Given the description of an element on the screen output the (x, y) to click on. 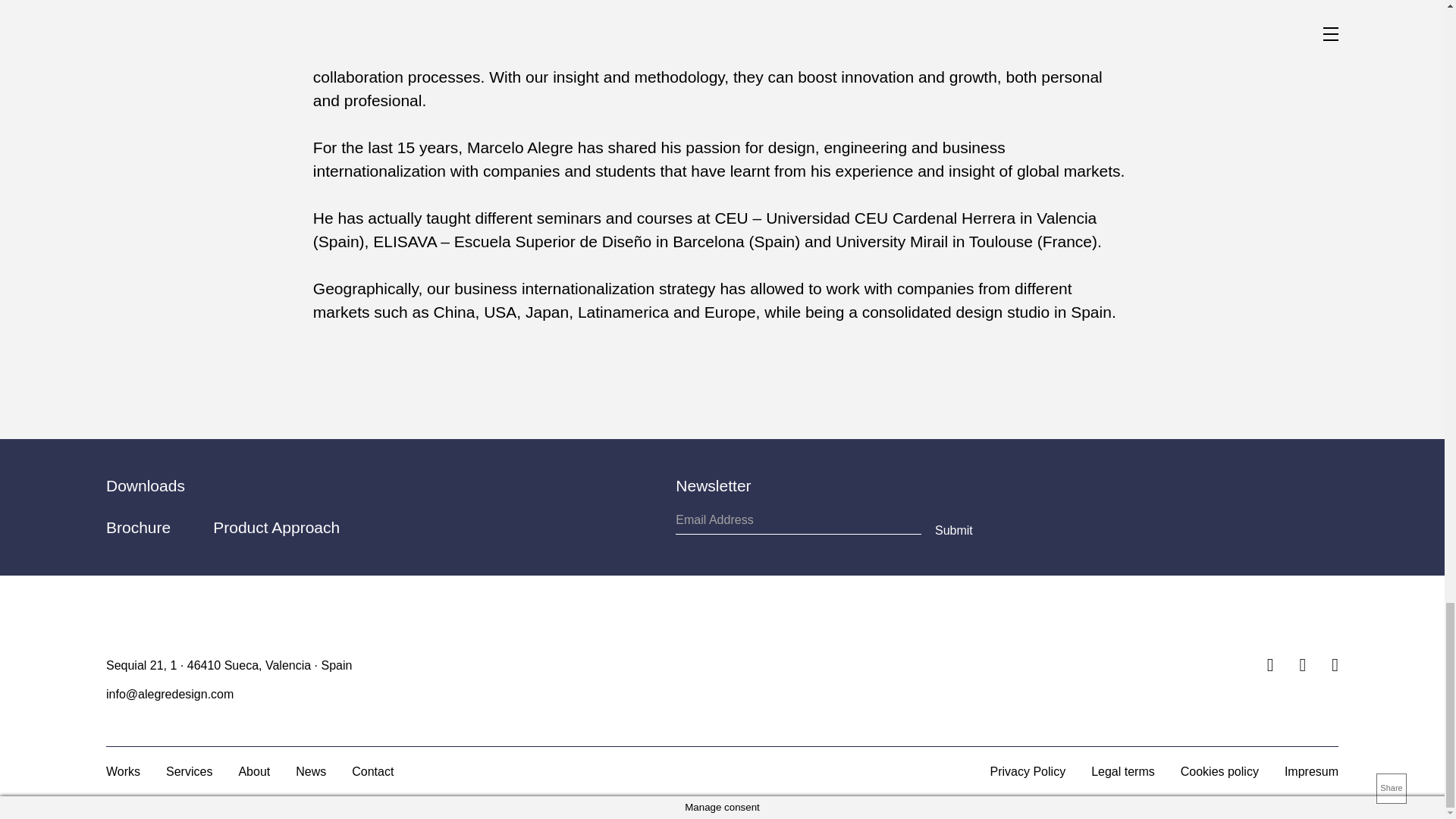
USA (499, 312)
China (454, 312)
Japan (547, 312)
Services (188, 771)
Europe, (732, 312)
taught (448, 217)
Contact (372, 771)
Brochure (138, 527)
Privacy Policy (1027, 771)
Latinamerica (623, 312)
Submit (953, 529)
Legal terms (1122, 771)
Works (122, 771)
About (253, 771)
News (310, 771)
